Given the description of an element on the screen output the (x, y) to click on. 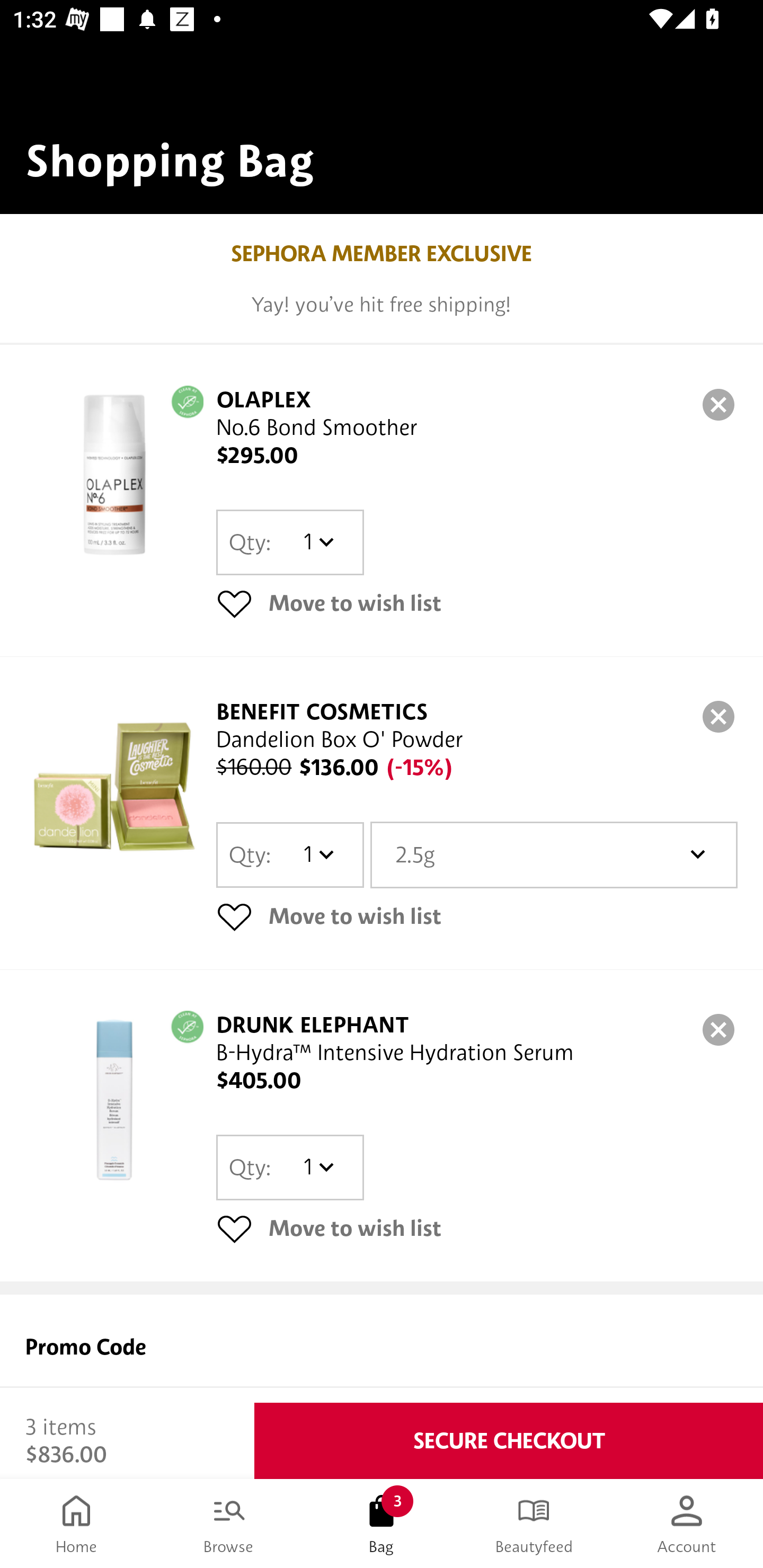
1 (317, 542)
Move to wish list (476, 602)
2.5g (553, 854)
1 (317, 854)
Move to wish list (476, 916)
1 (317, 1167)
Move to wish list (476, 1228)
Promo Code (381, 1349)
SECURE CHECKOUT (508, 1440)
Home (76, 1523)
Browse (228, 1523)
Beautyfeed (533, 1523)
Account (686, 1523)
